Given the description of an element on the screen output the (x, y) to click on. 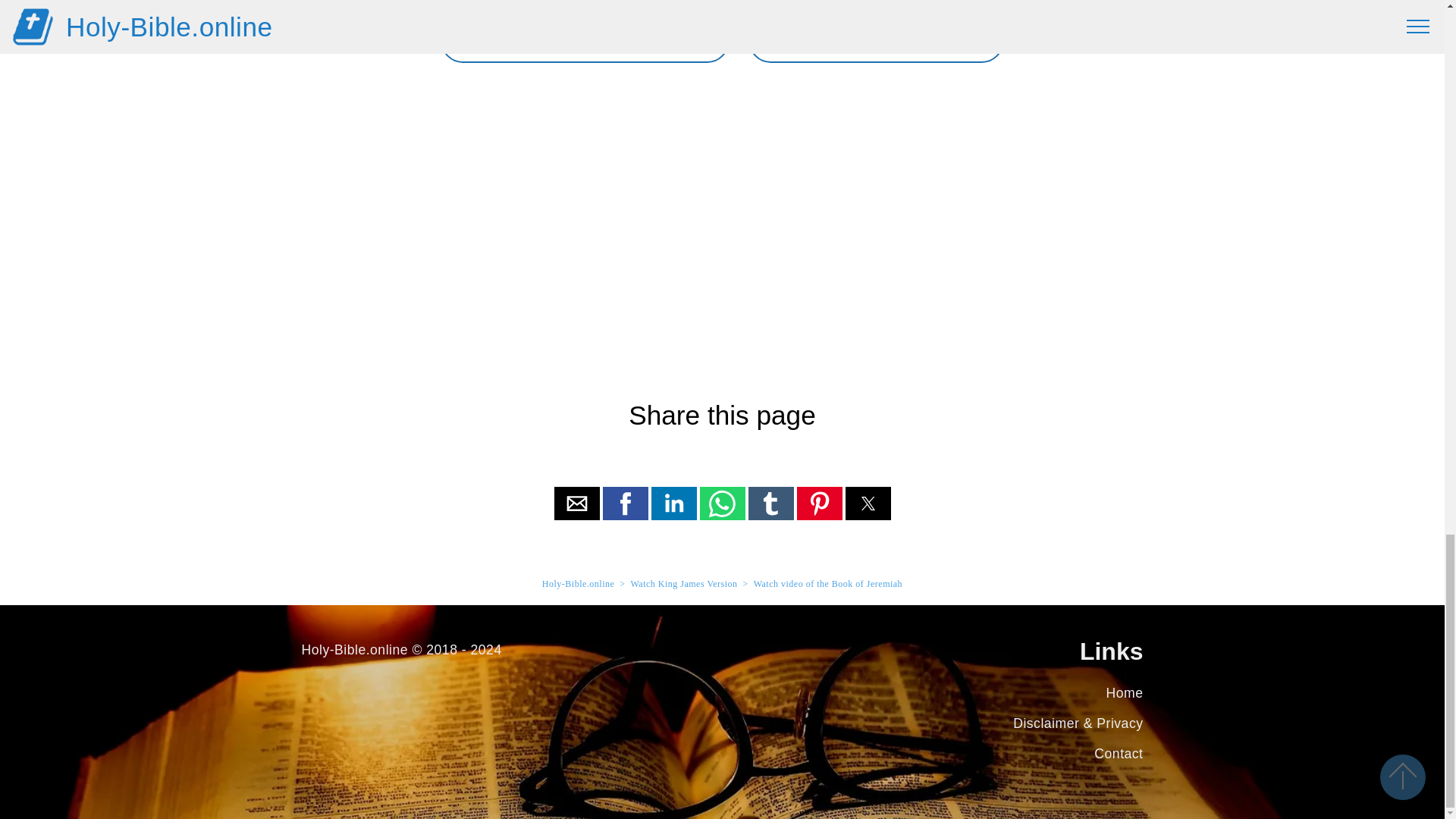
Listen to audiobook of the Book of Jeremiah, KJV (585, 40)
Home (1124, 693)
Contact (1118, 753)
LISTEN TO THE BOOK OF JEREMIAH (585, 40)
READ THE BOOK OF JEREMIAH (876, 40)
Watch King James Version (683, 583)
Watch video of the Book of Jeremiah (828, 583)
Holy-Bible.online (577, 583)
Read the scriptures of the Book of Jeremiah, KJV (876, 40)
